Given the description of an element on the screen output the (x, y) to click on. 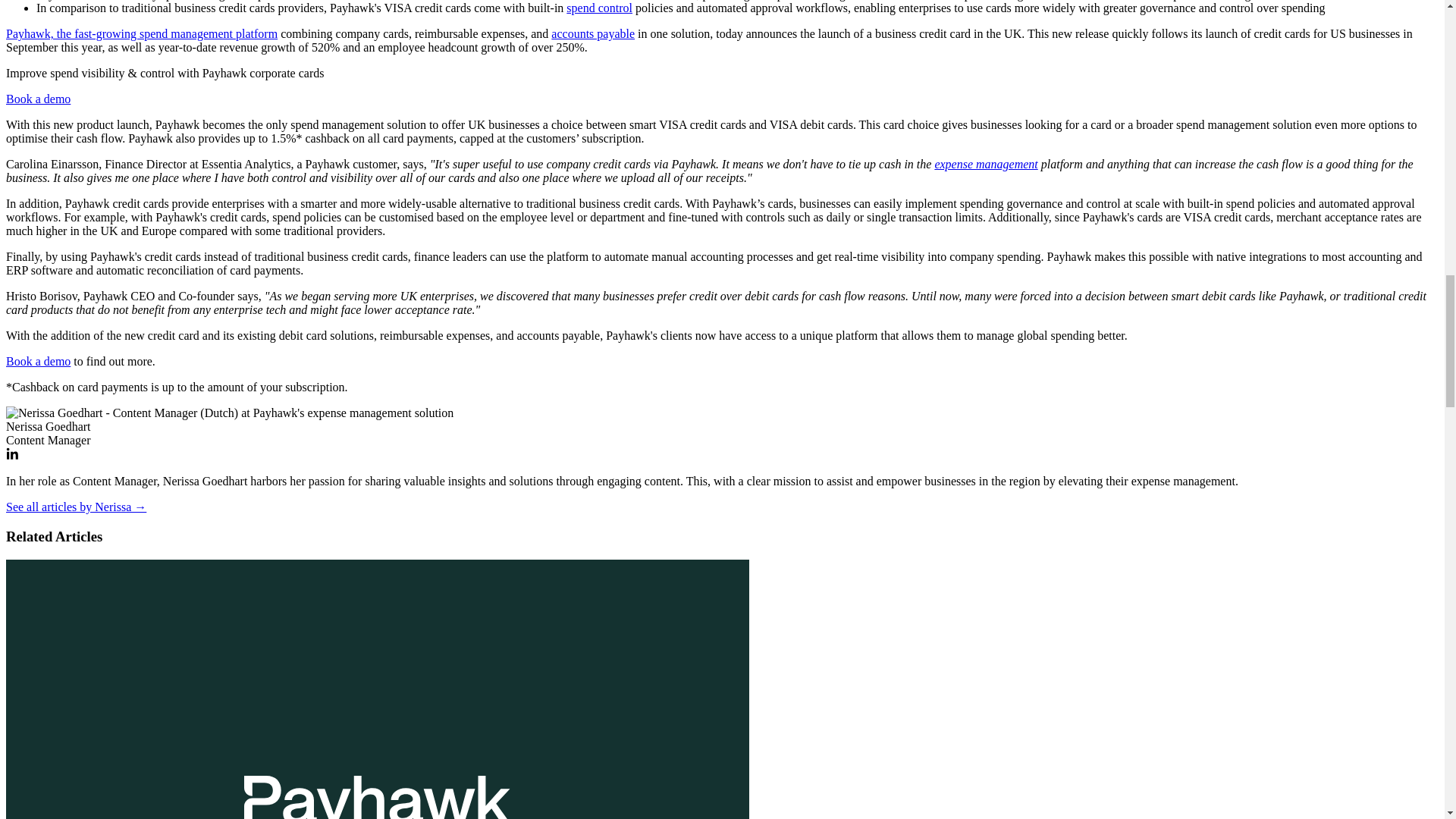
LinkedIn (11, 453)
